Given the description of an element on the screen output the (x, y) to click on. 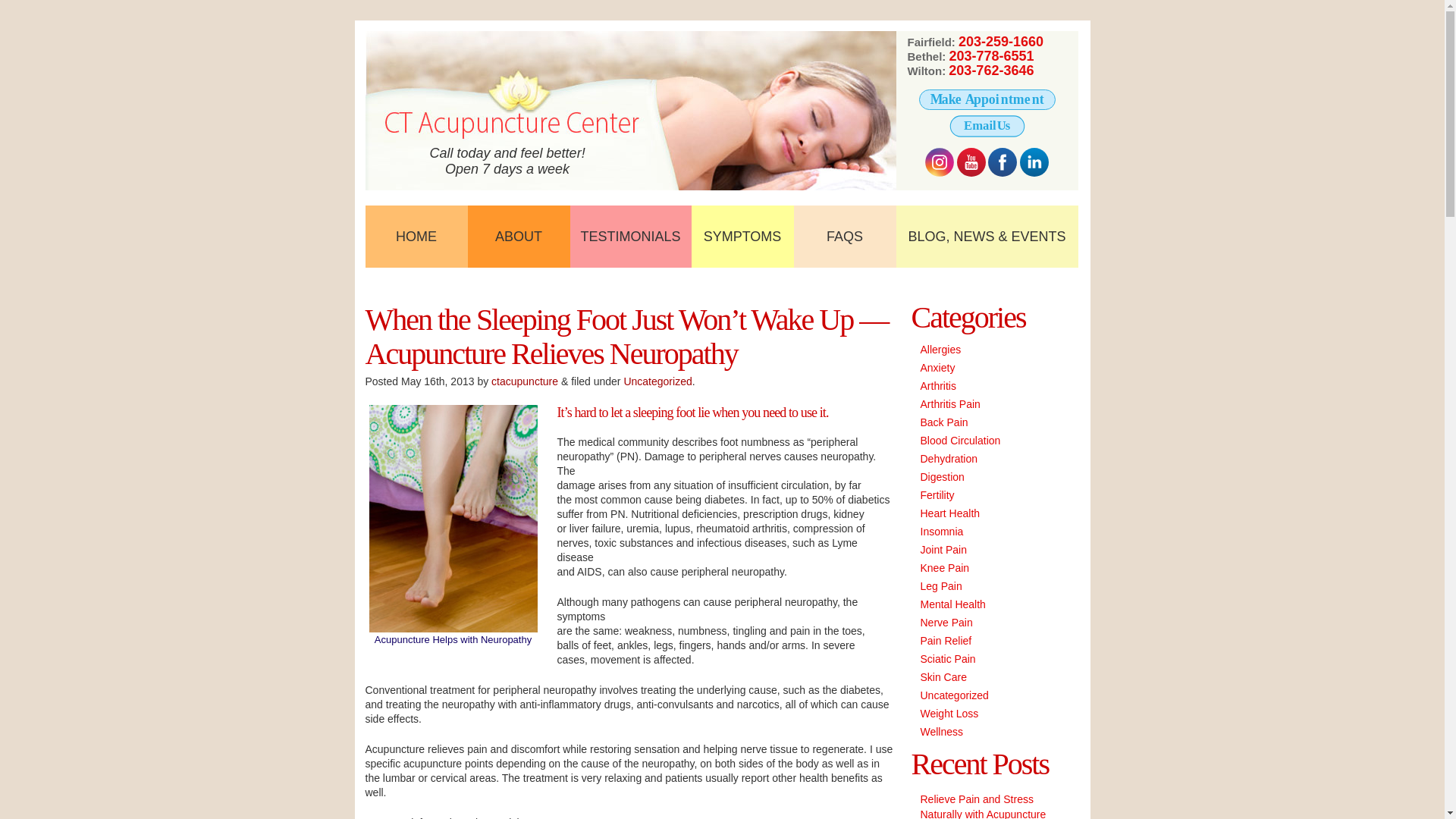
ABOUT (518, 236)
linkedin (1034, 162)
facebook (1002, 162)
youtube (970, 162)
twitter (938, 162)
HOME (416, 236)
SYMPTOMS (742, 236)
TESTIMONIALS (630, 236)
